Given the description of an element on the screen output the (x, y) to click on. 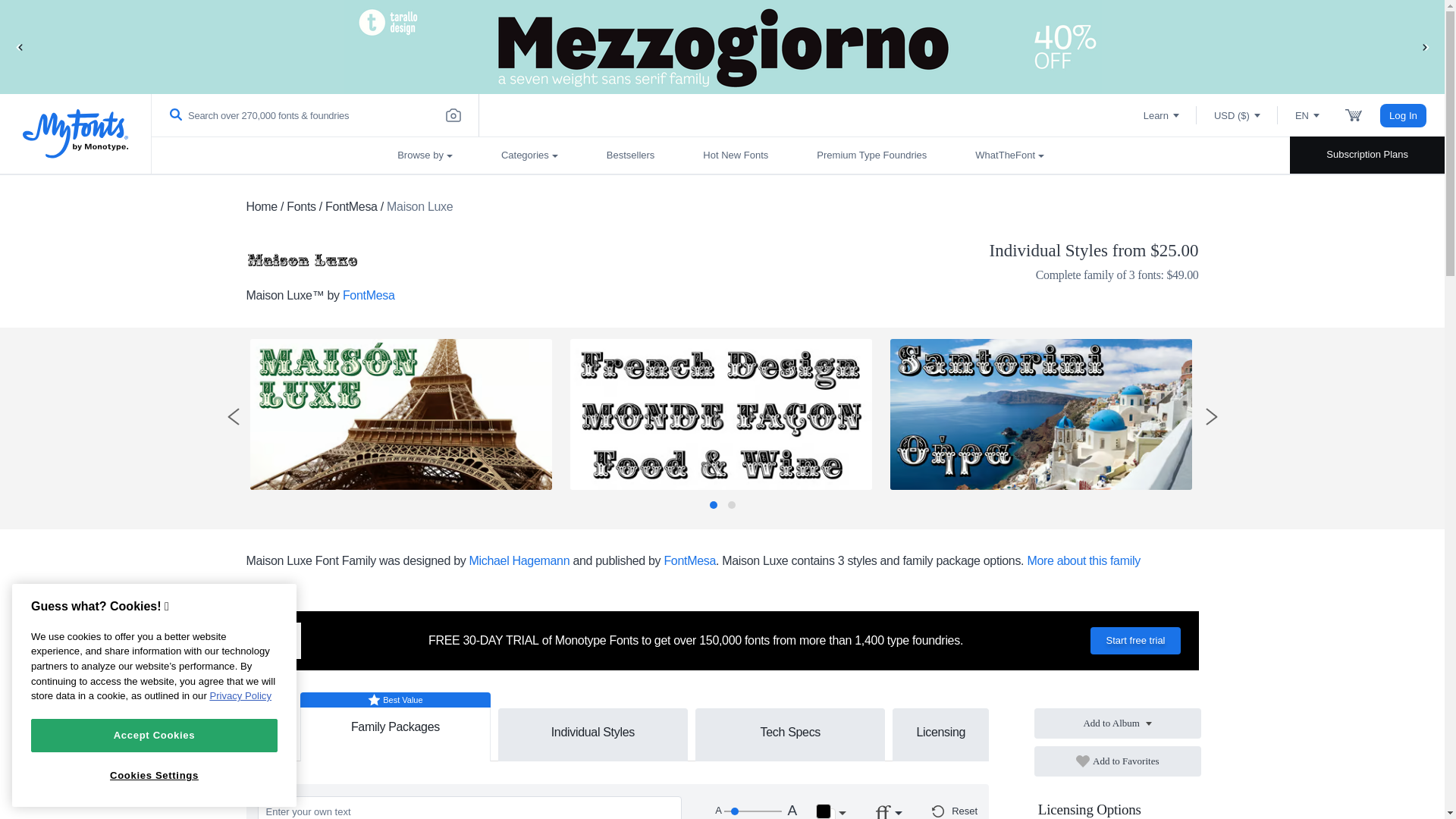
Tech Specs (789, 731)
Glyphs (269, 735)
MyFonts (75, 133)
Licensing (940, 731)
Log In (1403, 114)
Skip to content (72, 27)
Family Packages (395, 719)
Individual Styles (593, 731)
